Given the description of an element on the screen output the (x, y) to click on. 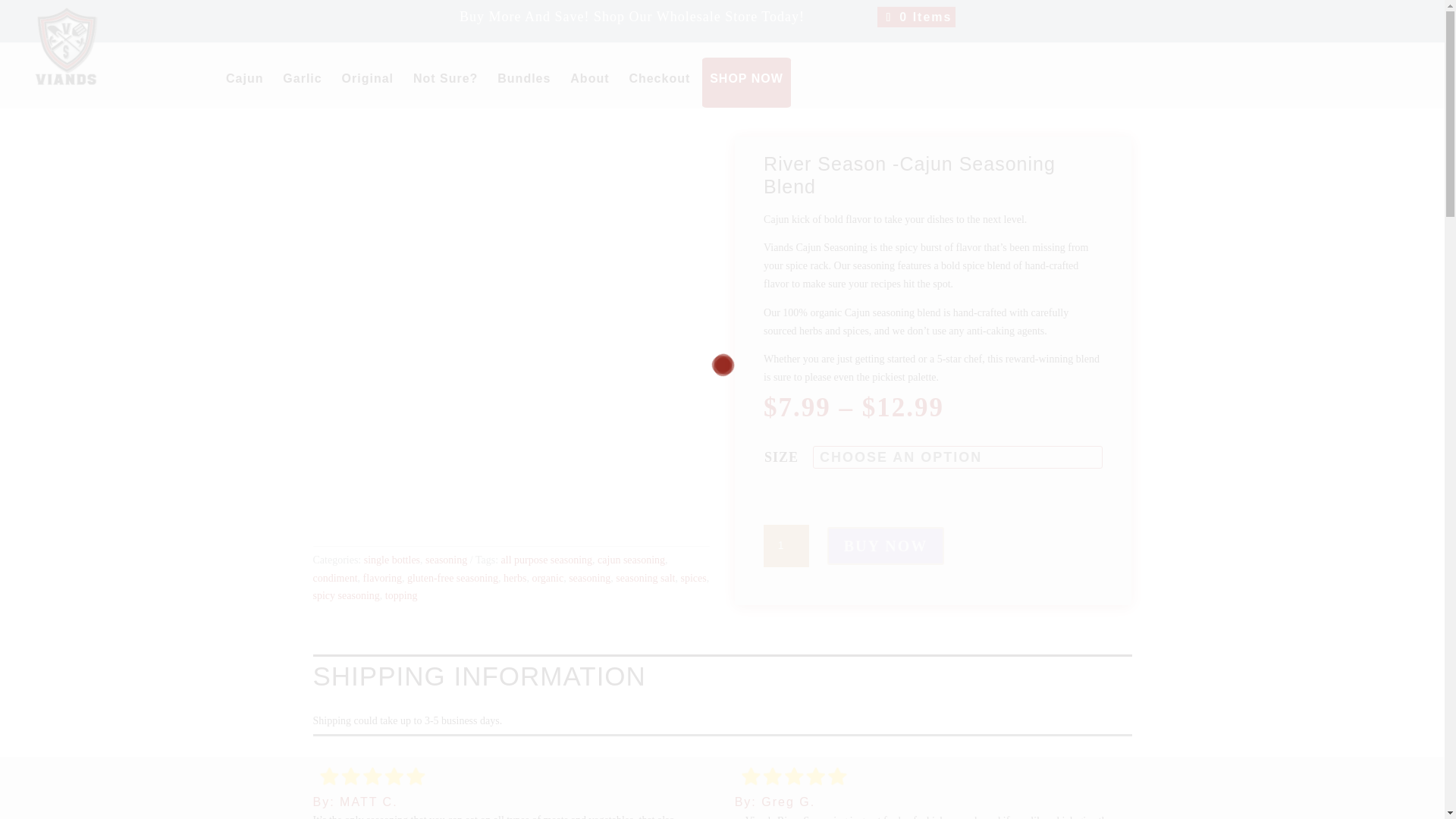
Checkout (659, 86)
spices (693, 577)
0 Items (916, 16)
BUY NOW (885, 546)
organic (547, 577)
all purpose seasoning (546, 559)
Original (367, 86)
five-star-review (794, 776)
Garlic (301, 86)
herbs (514, 577)
